Given the description of an element on the screen output the (x, y) to click on. 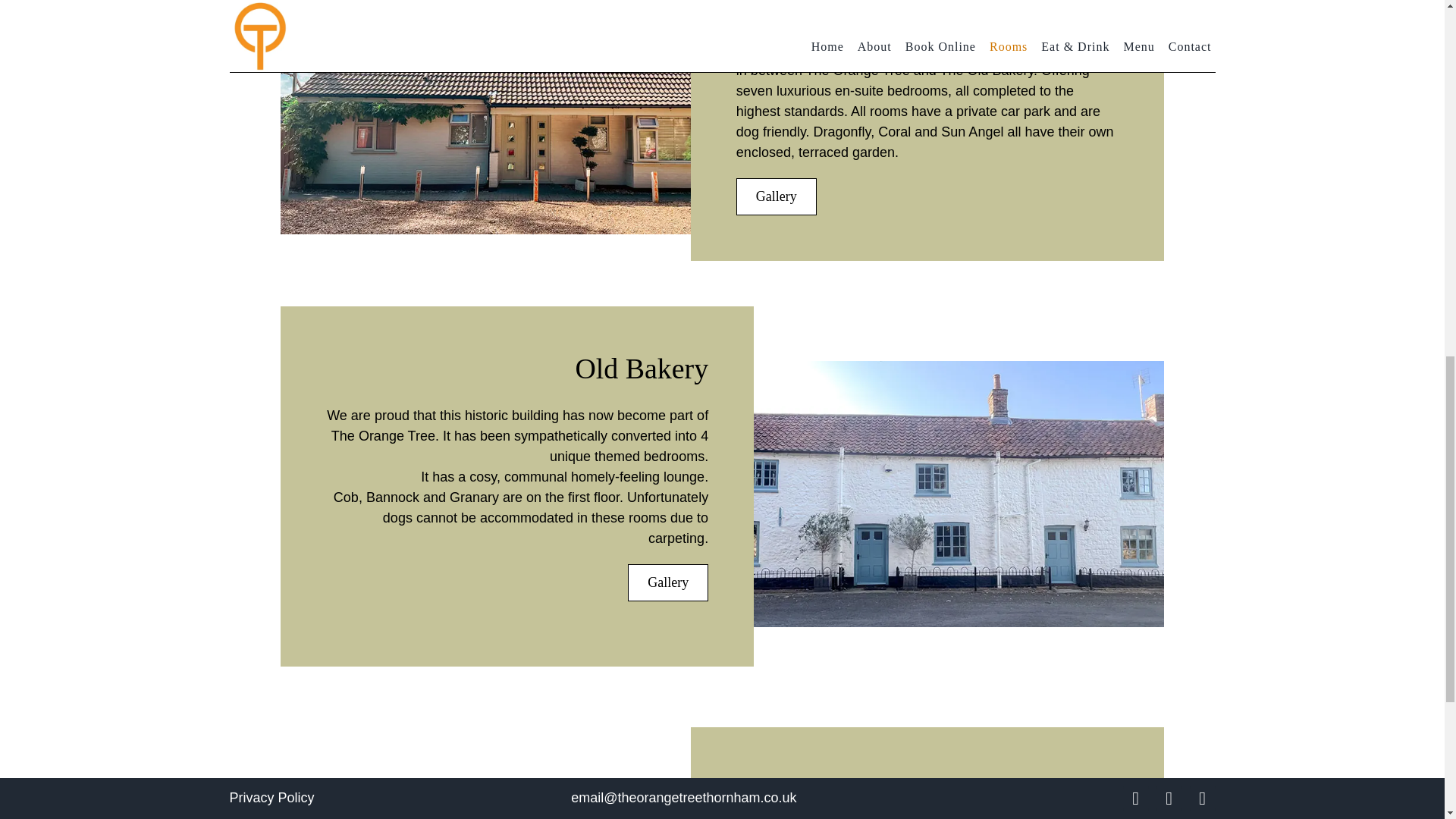
Gallery (776, 196)
Gallery (667, 582)
